Given the description of an element on the screen output the (x, y) to click on. 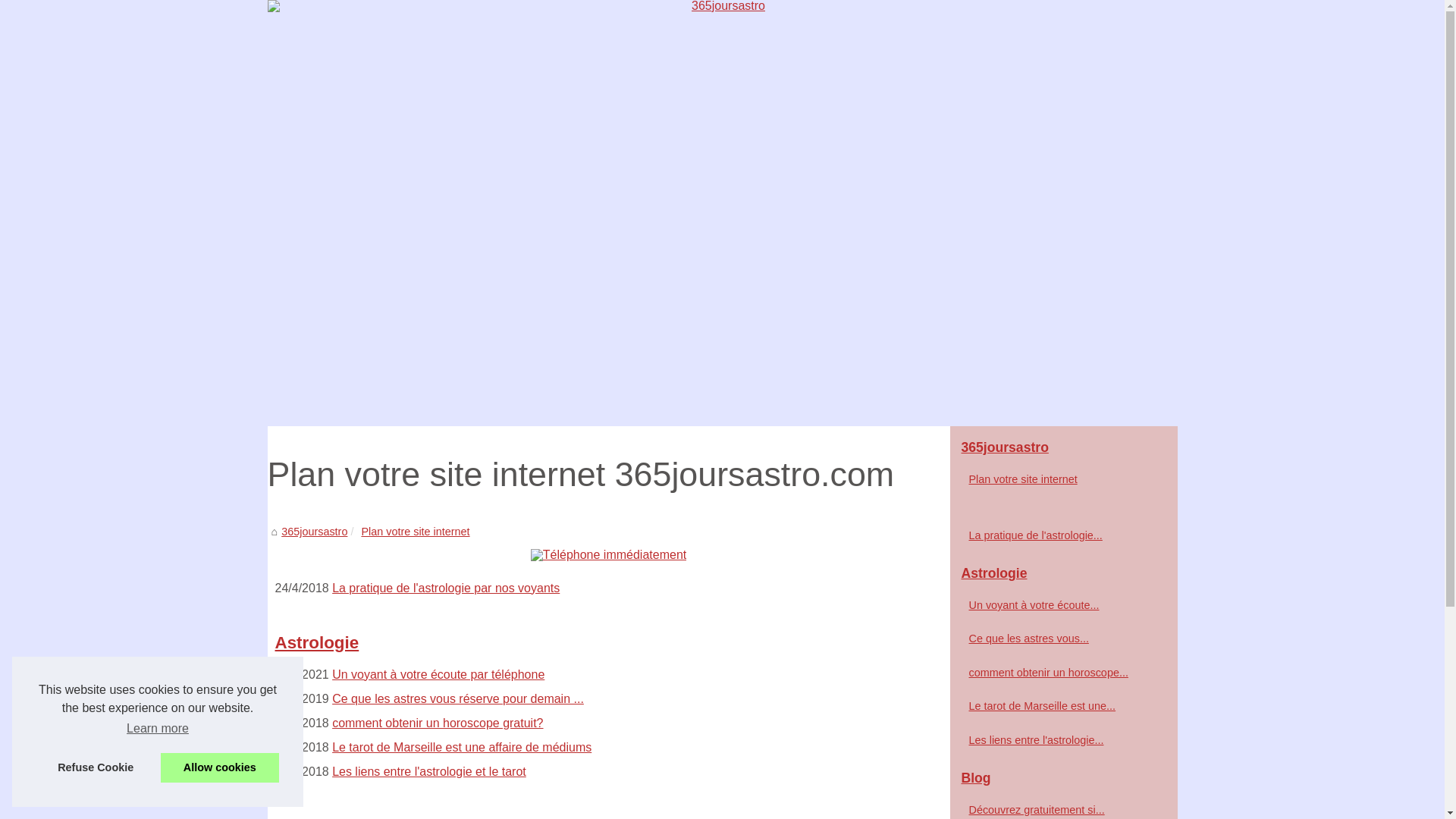
Refuse Cookie Element type: text (95, 767)
comment obtenir un horoscope gratuit? Element type: text (437, 722)
Astrologie Element type: text (1063, 573)
Plan votre site internet Element type: text (1055, 479)
Les liens entre l'astrologie et le tarot Element type: text (429, 771)
365joursastro Element type: hover (721, 213)
comment obtenir un horoscope... Element type: text (1055, 672)
365joursastro Element type: text (314, 531)
Allow cookies Element type: text (219, 767)
365joursastro Element type: text (1063, 447)
Learn more Element type: text (157, 728)
Ce que les astres vous... Element type: text (1055, 638)
Blog Element type: text (1063, 778)
La pratique de l'astrologie... Element type: text (1055, 535)
Plan votre site internet Element type: text (414, 531)
La pratique de l'astrologie par nos voyants Element type: text (445, 587)
Astrologie Element type: text (607, 642)
Les liens entre l'astrologie... Element type: text (1055, 740)
Le tarot de Marseille est une... Element type: text (1055, 705)
